Given the description of an element on the screen output the (x, y) to click on. 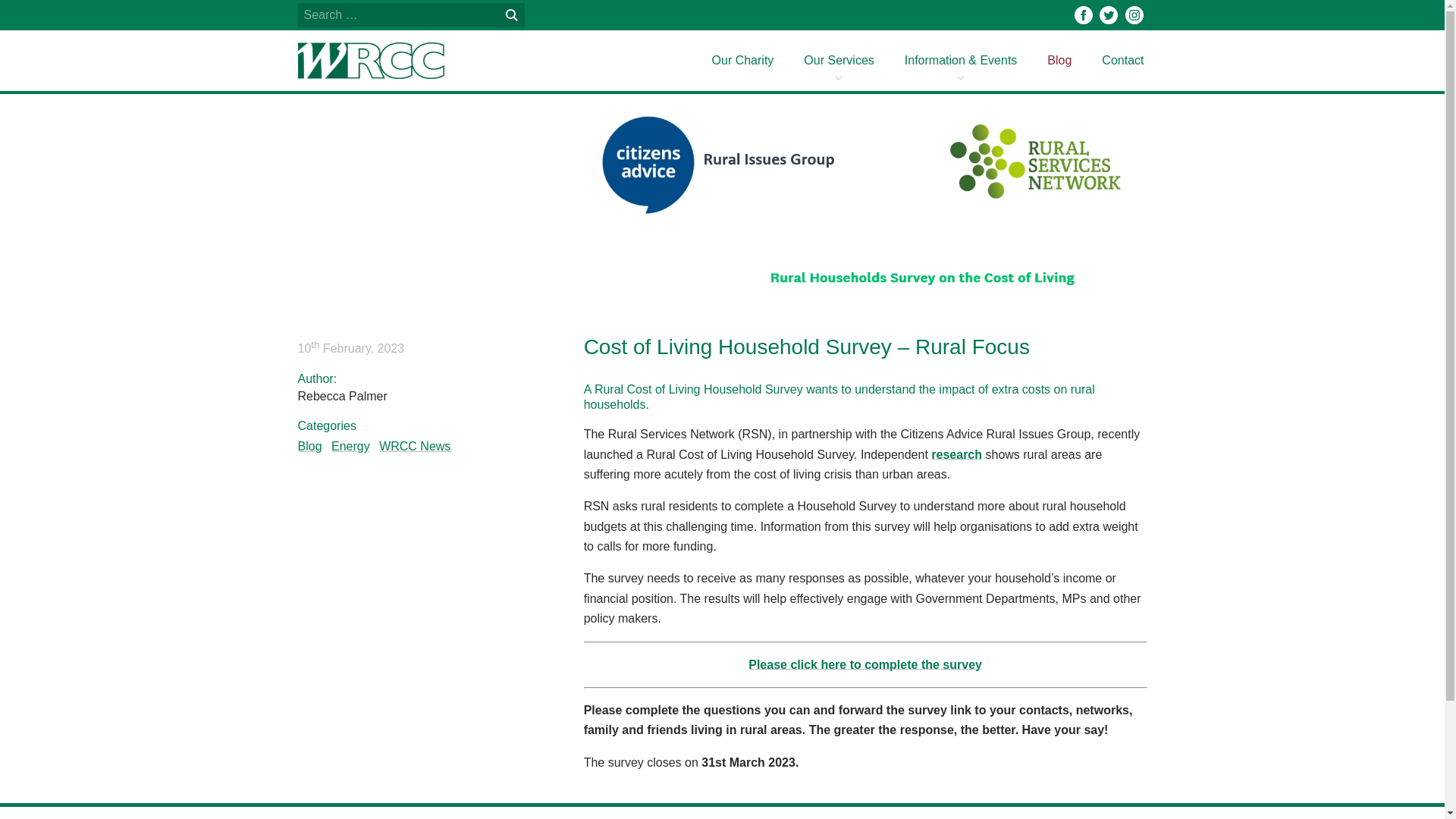
Energy (350, 445)
Blog (309, 445)
Search (511, 15)
Search (511, 15)
Blog (1059, 60)
Contact (1122, 60)
research (956, 454)
Our Charity (743, 60)
WRCC News (413, 445)
Our Services (838, 60)
Please click here to complete the survey (864, 664)
Search (511, 15)
